Given the description of an element on the screen output the (x, y) to click on. 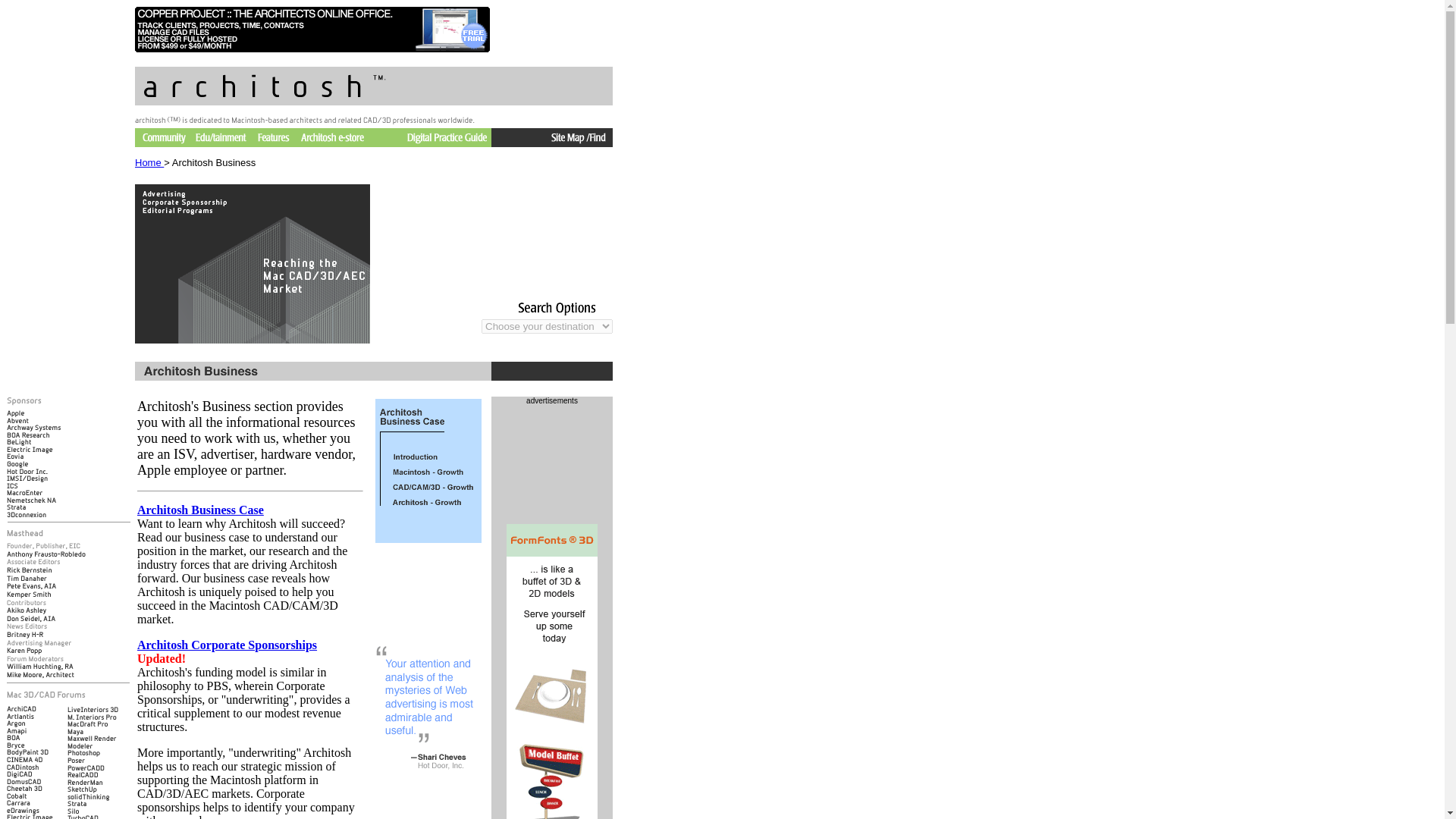
Architosh Business Case (199, 509)
Home (149, 162)
Architosh Corporate Sponsorships (226, 644)
